Given the description of an element on the screen output the (x, y) to click on. 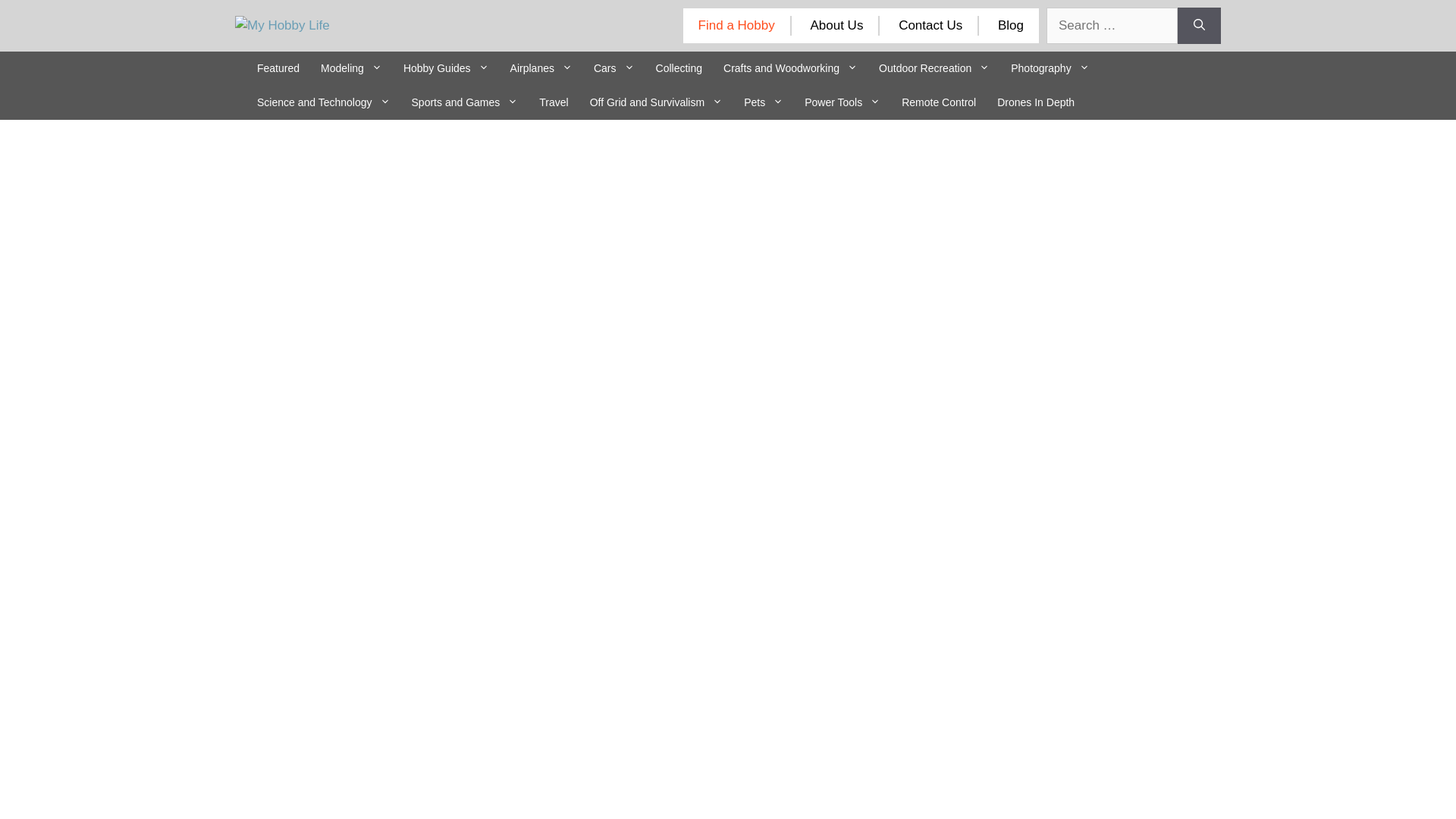
Contact Us (930, 25)
Outdoor Recreation (933, 68)
Blog (1010, 25)
Collecting (679, 68)
About Us (836, 25)
Hobby Guides (446, 68)
Search for: (1111, 25)
Modeling (351, 68)
Find a Hobby (736, 25)
Airplanes (541, 68)
Featured (278, 68)
Crafts and Woodworking (790, 68)
Cars (614, 68)
